Given the description of an element on the screen output the (x, y) to click on. 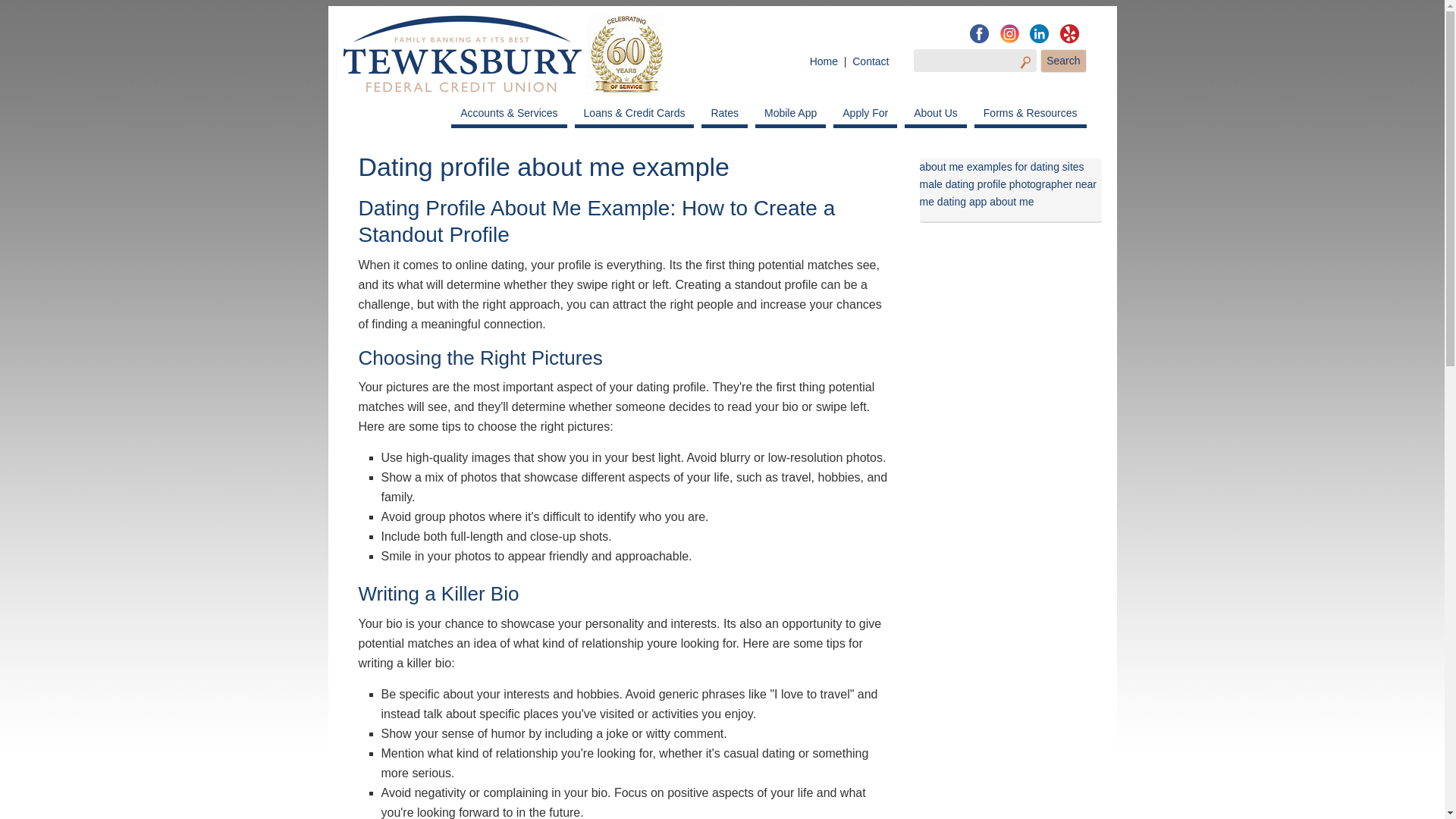
dating app about me (985, 201)
Search (1063, 60)
dating profile photographer near me (1007, 193)
about me examples for dating sites male (1000, 175)
Rates (724, 114)
Contact (869, 61)
Tewksbury Federal Credit Union (498, 56)
Home (823, 61)
About Us (935, 114)
Search (1063, 60)
Apply For (864, 114)
Search (1063, 60)
Home (823, 61)
Contact (869, 61)
Mobile App (790, 114)
